Given the description of an element on the screen output the (x, y) to click on. 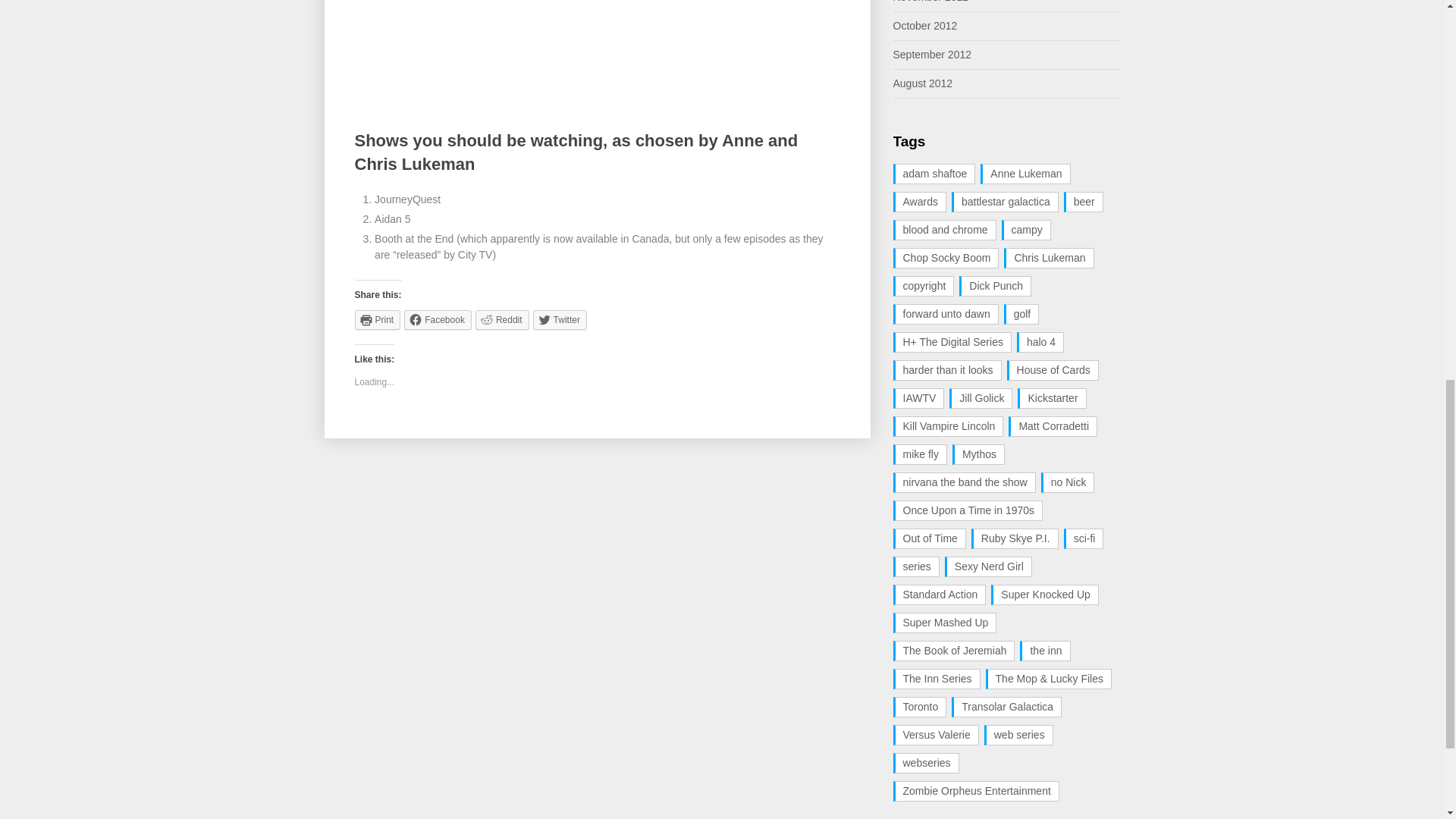
forward unto dawn (945, 313)
October 2012 (925, 25)
copyright (924, 286)
campy (1026, 230)
September 2012 (932, 54)
Reddit (502, 320)
Twitter (559, 320)
blood and chrome (944, 230)
Click to share on Facebook (437, 320)
Facebook (437, 320)
November 2012 (931, 1)
Click to share on Reddit (502, 320)
Click to print (378, 320)
Chris Lukeman (1048, 258)
Click to share on Twitter (559, 320)
